Given the description of an element on the screen output the (x, y) to click on. 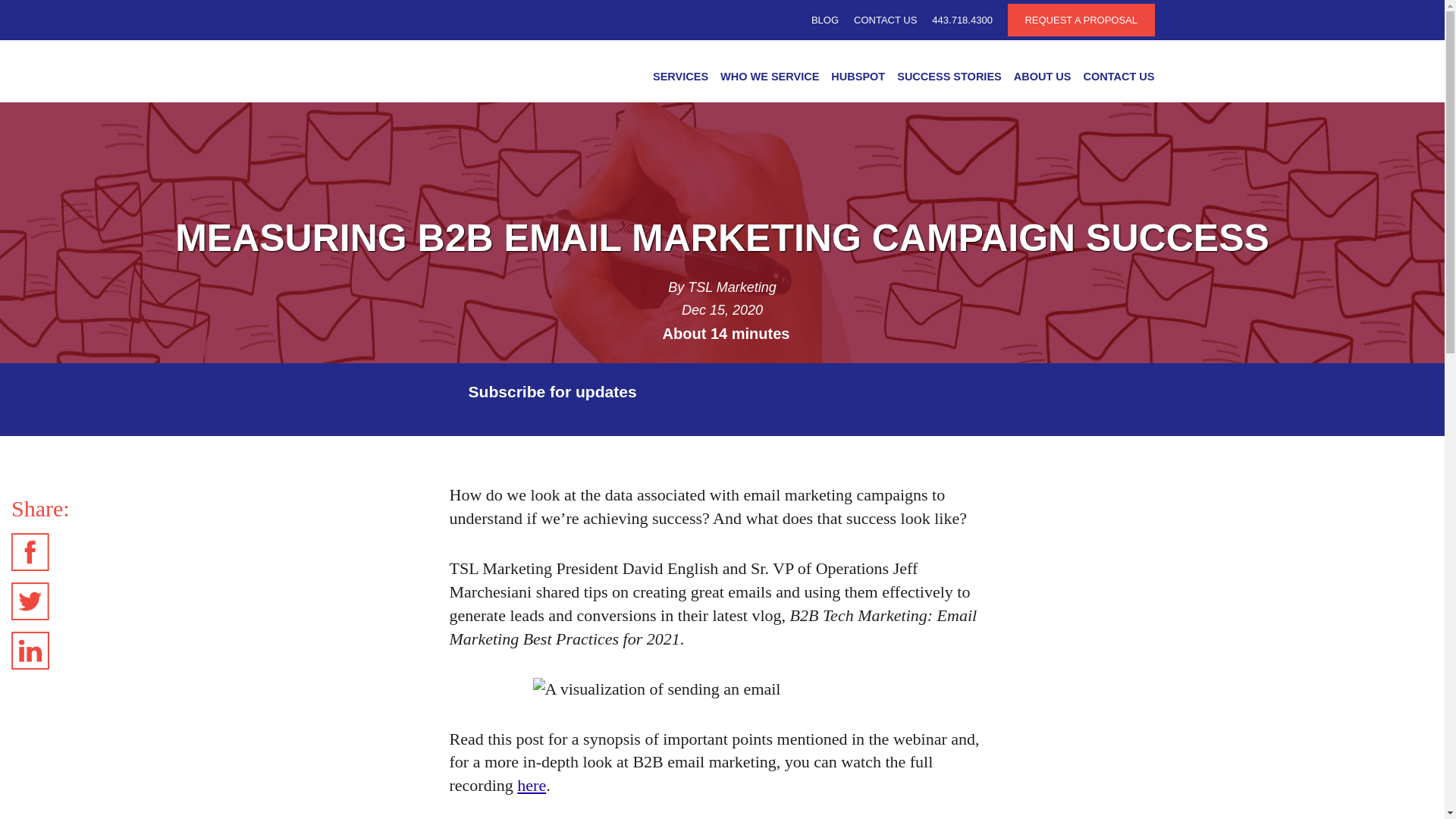
443.718.4300 (961, 19)
REQUEST A PROPOSAL (1080, 20)
SUCCESS STORIES (949, 79)
SERVICES (680, 79)
here (531, 784)
BLOG (824, 19)
CONTACT US (885, 19)
CONTACT US (1115, 79)
ABOUT US (1042, 79)
HUBSPOT (858, 79)
WHO WE SERVICE (769, 79)
